Given the description of an element on the screen output the (x, y) to click on. 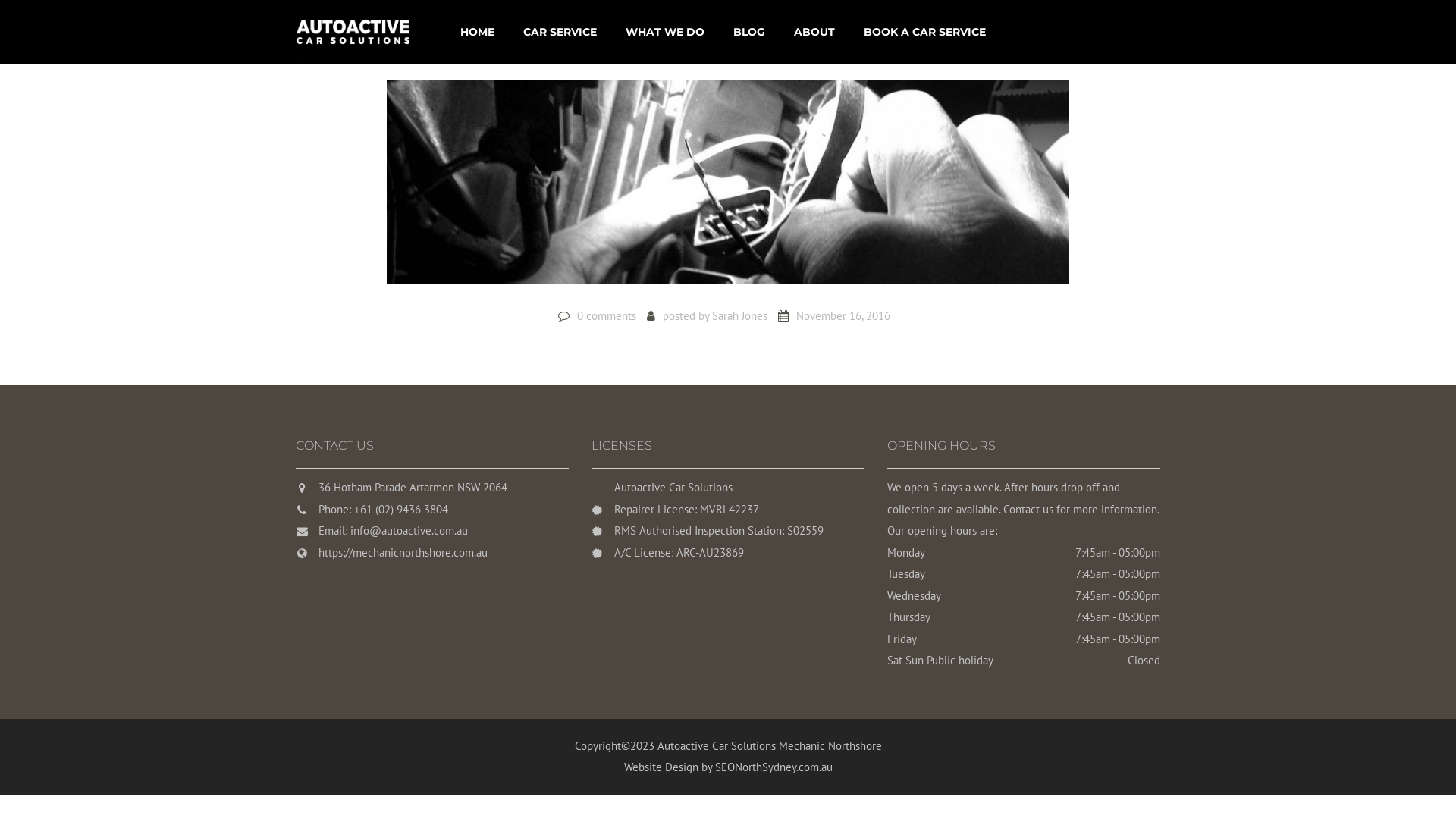
HOME Element type: text (477, 32)
WHAT WE DO Element type: text (664, 32)
CAR SERVICE Element type: text (559, 32)
0 comments Element type: text (606, 315)
Sarah Jones Element type: text (739, 315)
BOOK A CAR SERVICE Element type: text (924, 32)
BLOG Element type: text (749, 32)
201609-bmw-x6-headlight-wiring-repair Element type: hover (727, 188)
ABOUT Element type: text (814, 32)
